Given the description of an element on the screen output the (x, y) to click on. 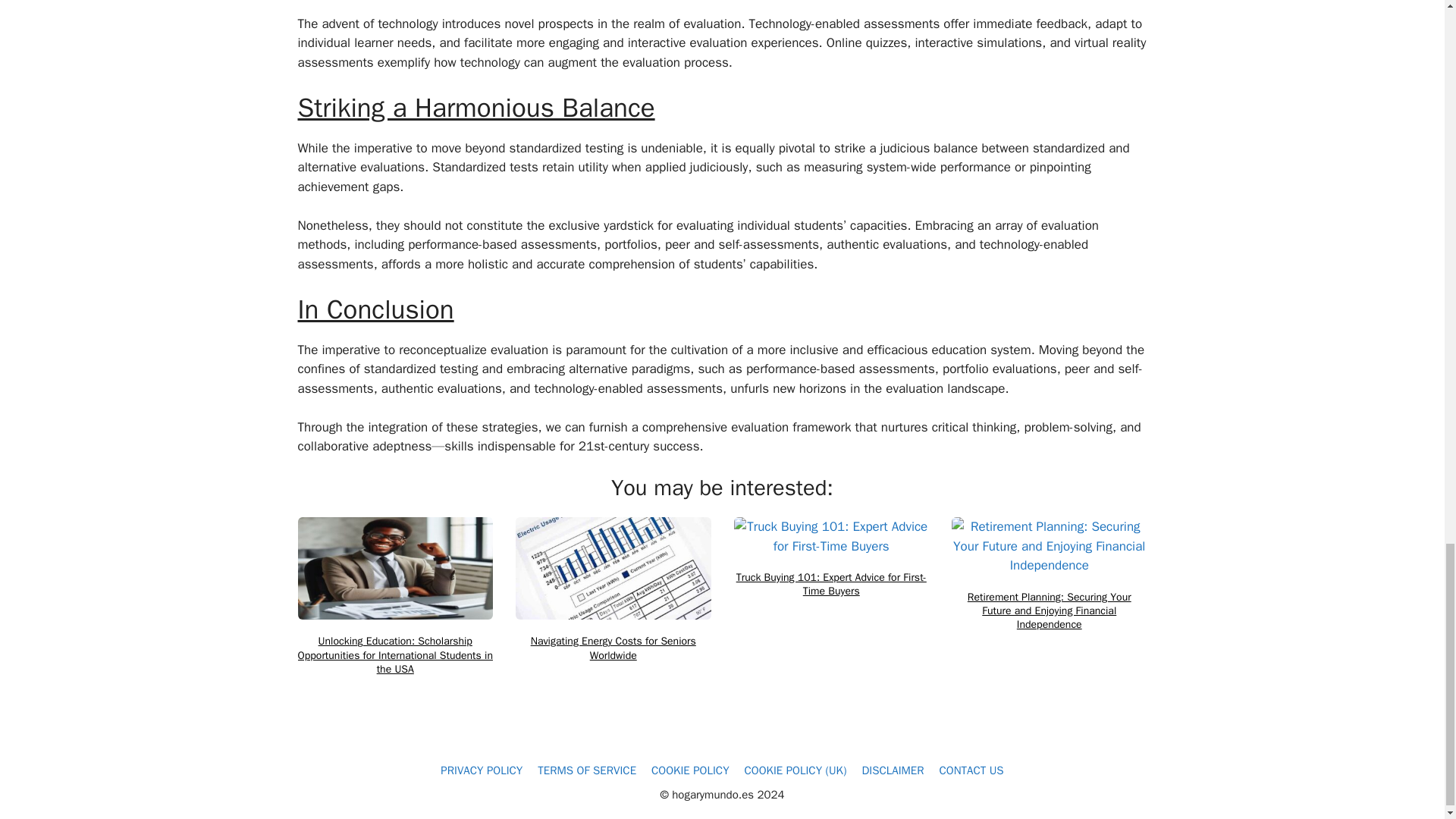
COOKIE POLICY (689, 770)
CONTACT US (971, 770)
Truck Buying 101: Expert Advice for First-Time Buyers (831, 584)
PRIVACY POLICY (481, 770)
TERMS OF SERVICE (586, 770)
DISCLAIMER (892, 770)
Navigating Energy Costs for Seniors Worldwide (613, 647)
